Given the description of an element on the screen output the (x, y) to click on. 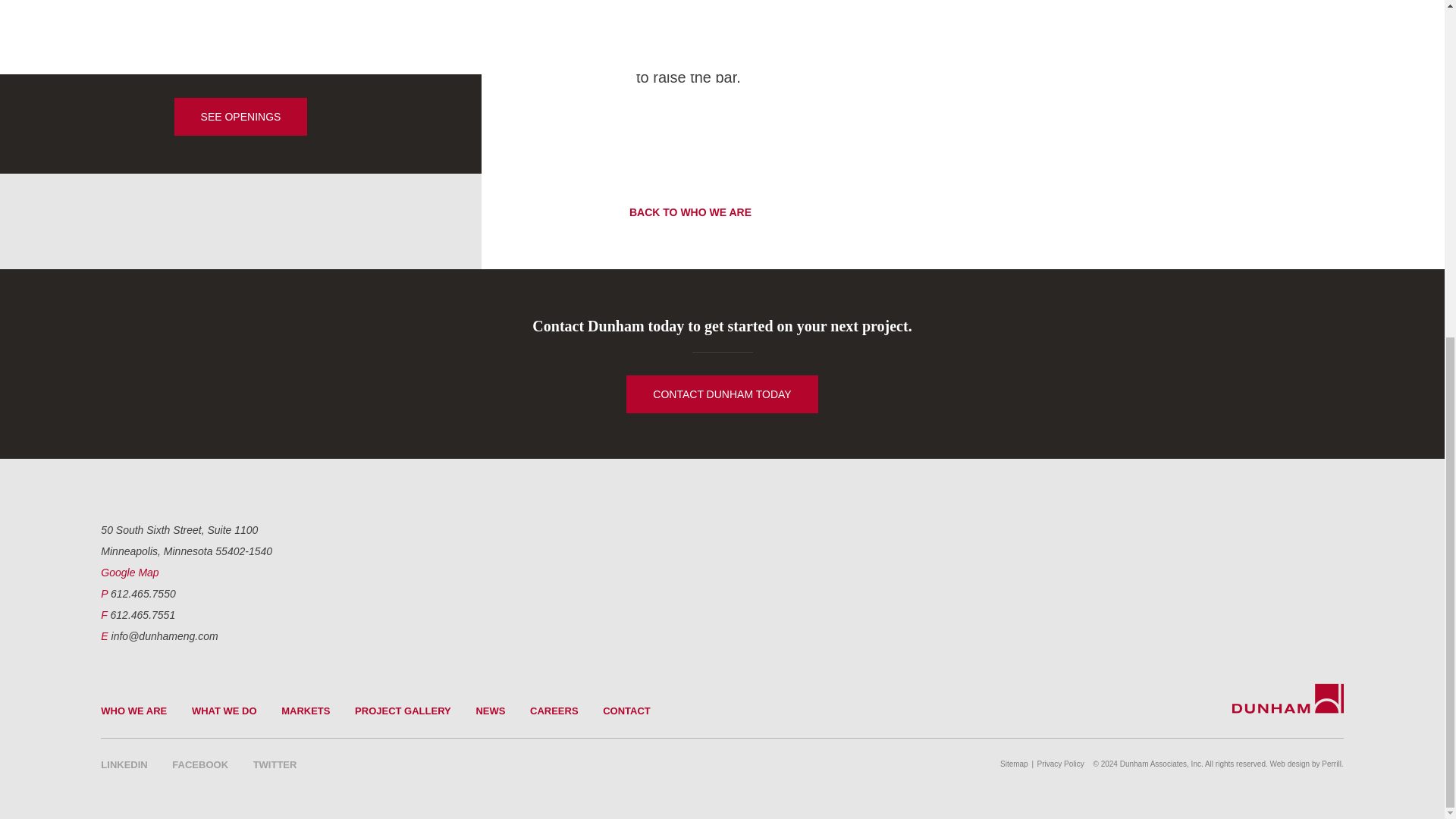
BACK TO WHO WE ARE (676, 212)
CONTACT DUNHAM TODAY (721, 394)
SEE OPENINGS (240, 116)
